Given the description of an element on the screen output the (x, y) to click on. 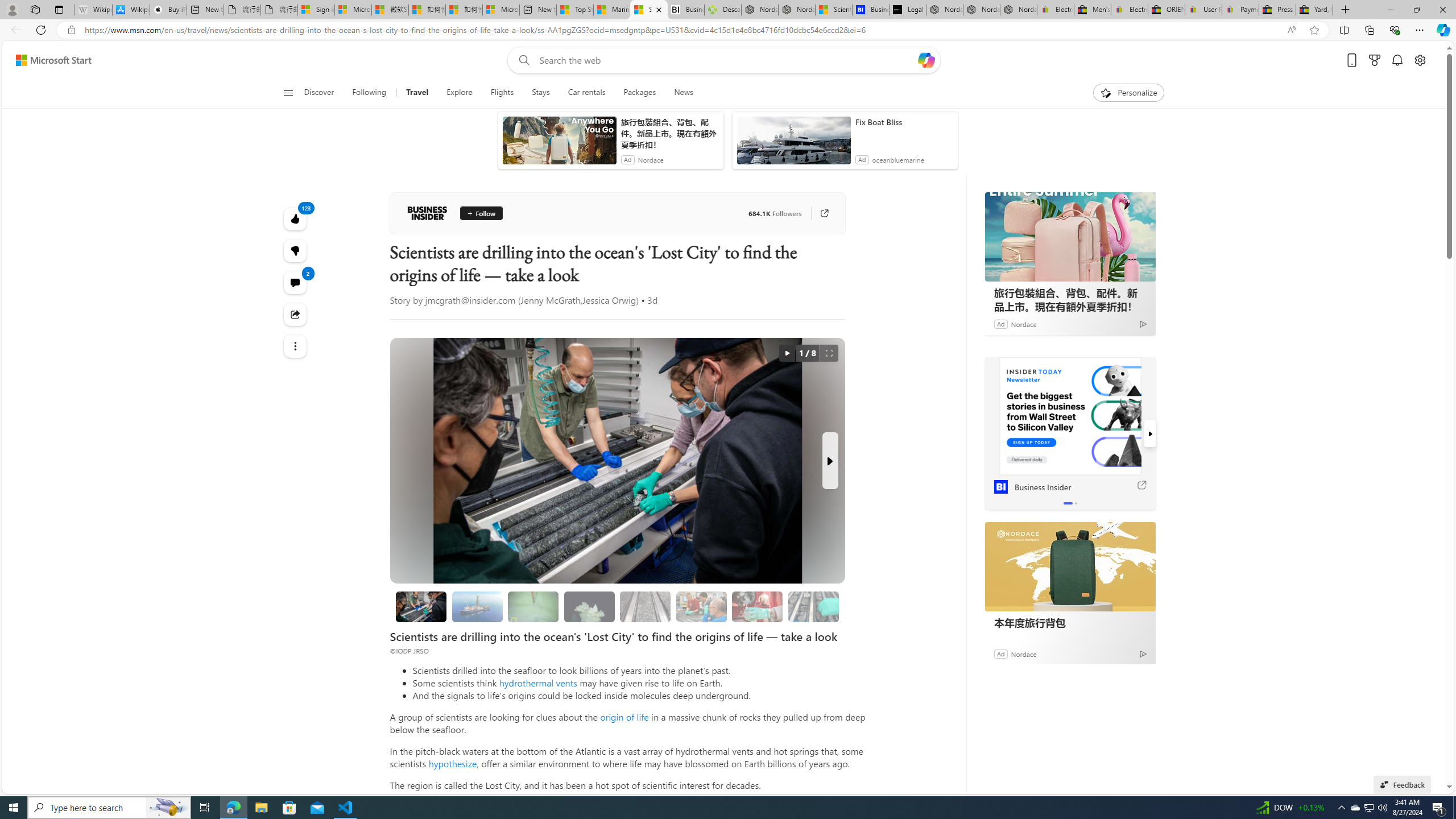
Looking for evidence of oxygen-free life (700, 606)
Nordace - Summer Adventures 2024 (759, 9)
Car rentals (586, 92)
Researchers are still studying the samples (813, 606)
Open settings (1420, 60)
